Given the description of an element on the screen output the (x, y) to click on. 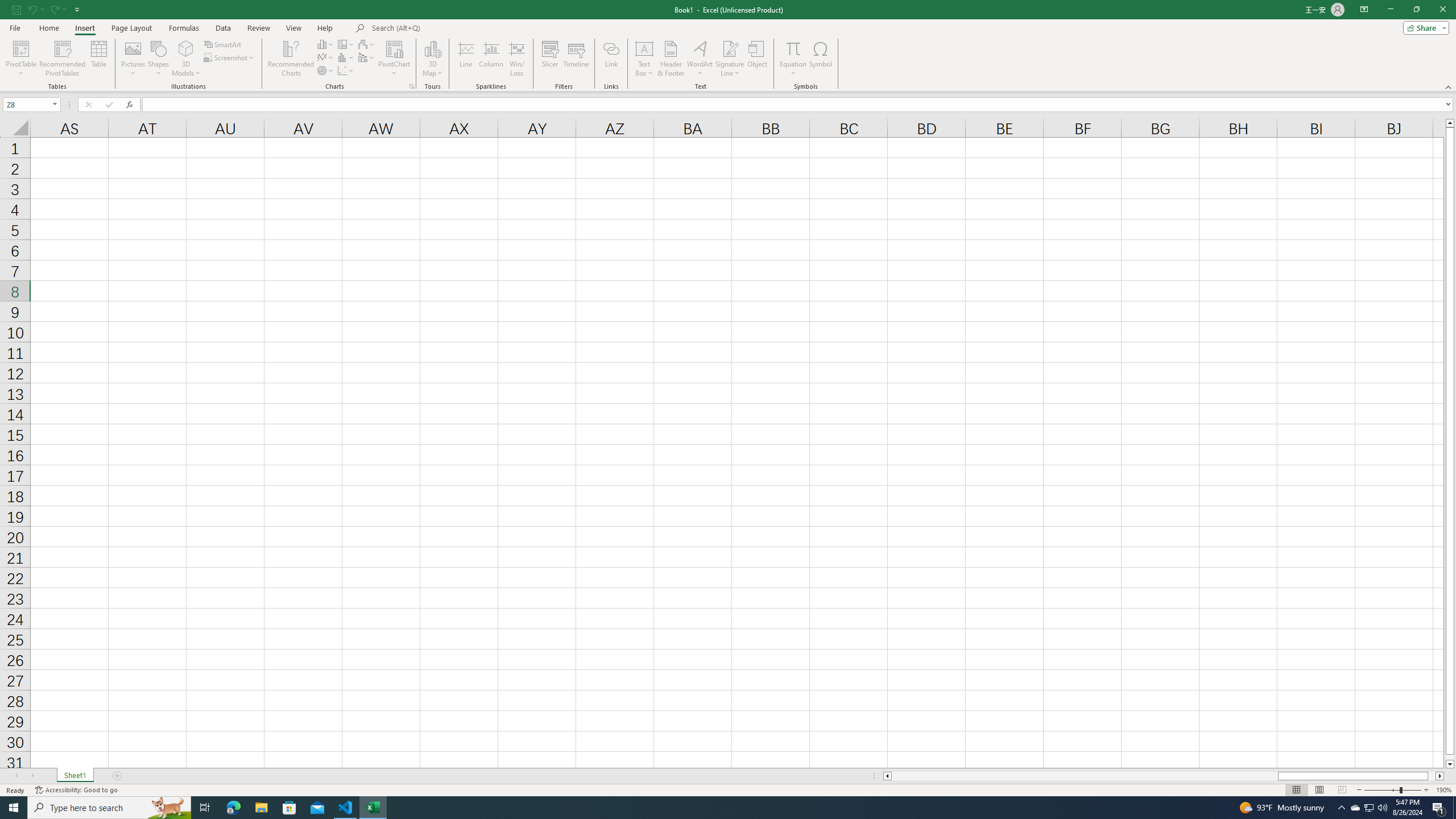
Insert Statistic Chart (346, 56)
